Given the description of an element on the screen output the (x, y) to click on. 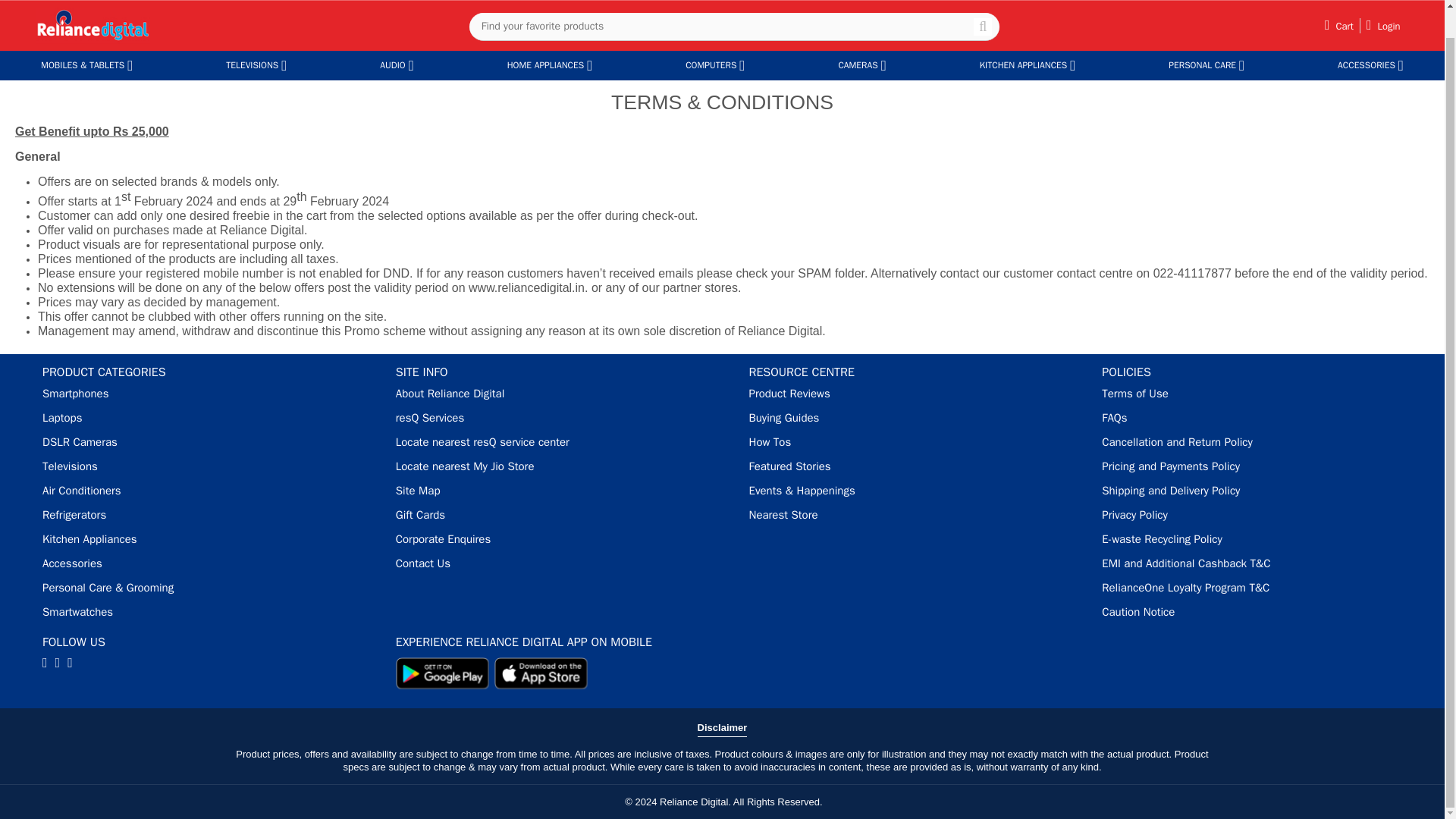
googlePlayStore (442, 673)
AppleStore (541, 673)
Reliance Digital Logo (92, 25)
Cart (1339, 25)
